Given the description of an element on the screen output the (x, y) to click on. 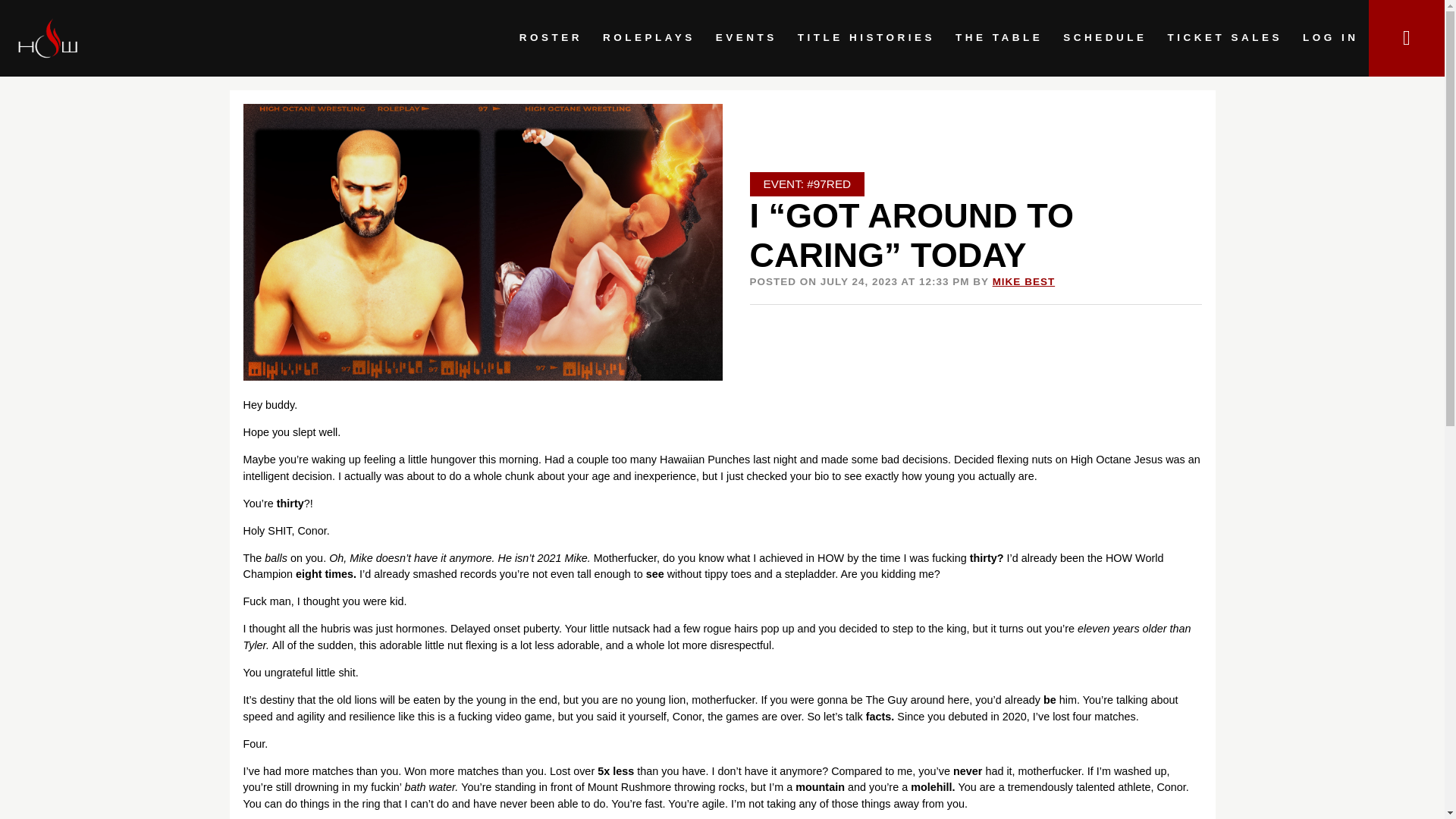
LOG IN (1330, 38)
THE TABLE (998, 38)
TICKET SALES (1224, 38)
TITLE HISTORIES (865, 38)
EVENTS (745, 38)
SCHEDULE (1104, 38)
ROSTER (550, 38)
ROLEPLAYS (648, 38)
